Given the description of an element on the screen output the (x, y) to click on. 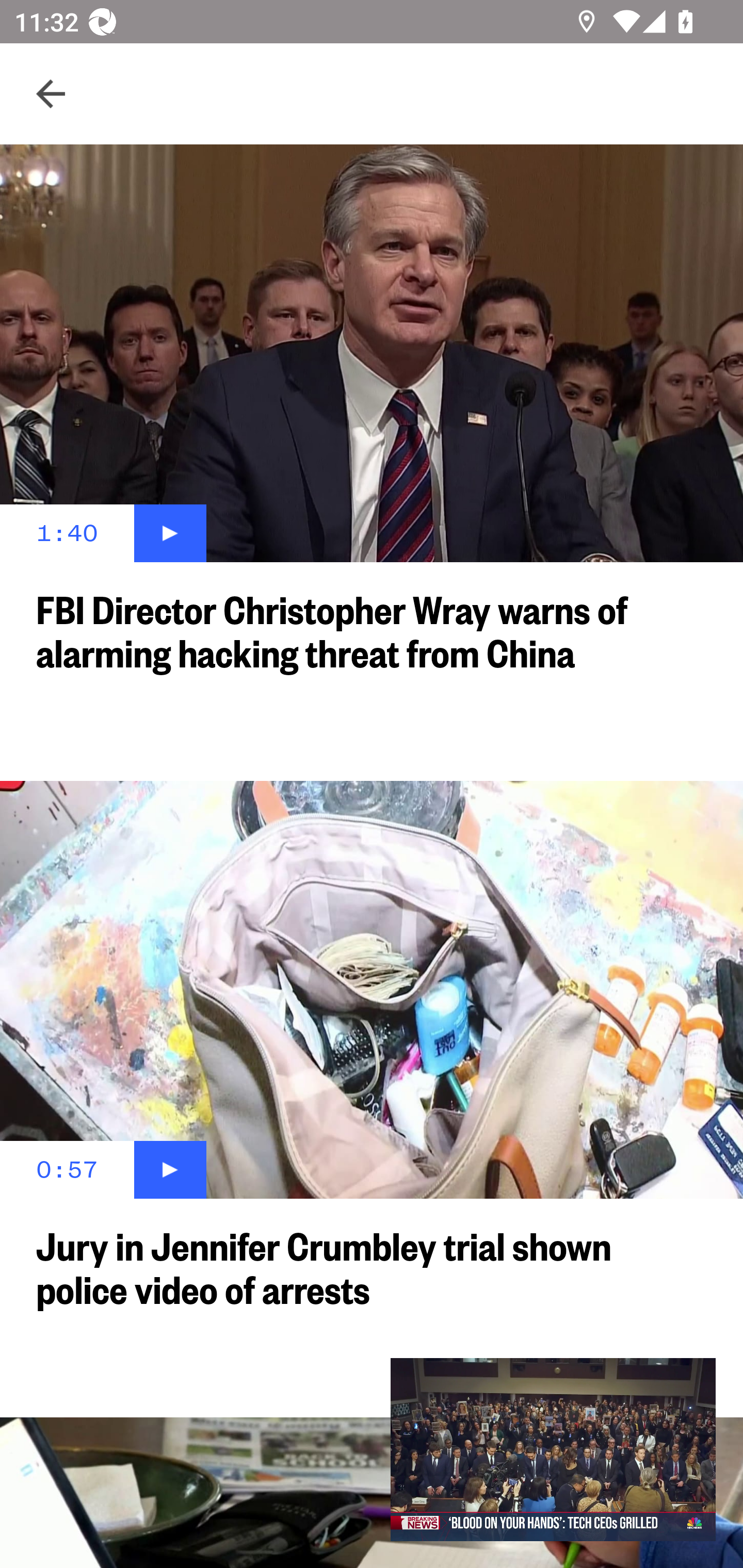
Navigate up (50, 93)
